Given the description of an element on the screen output the (x, y) to click on. 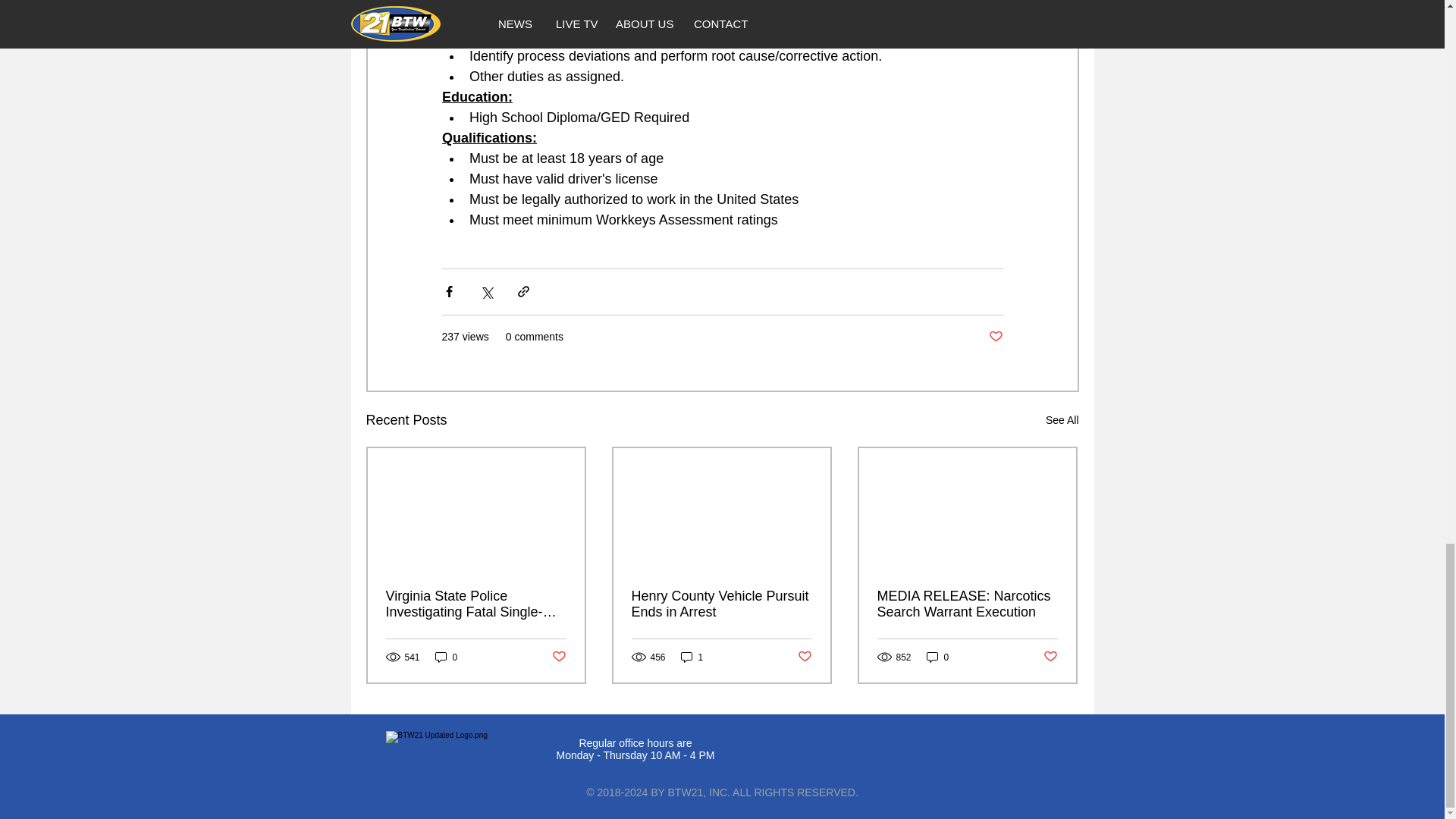
Post not marked as liked (804, 657)
Post not marked as liked (1050, 657)
See All (1061, 420)
0 (937, 657)
MEDIA RELEASE: Narcotics Search Warrant Execution (966, 603)
0 (446, 657)
Henry County Vehicle Pursuit Ends in Arrest (720, 603)
1 (691, 657)
Post not marked as liked (558, 657)
